Given the description of an element on the screen output the (x, y) to click on. 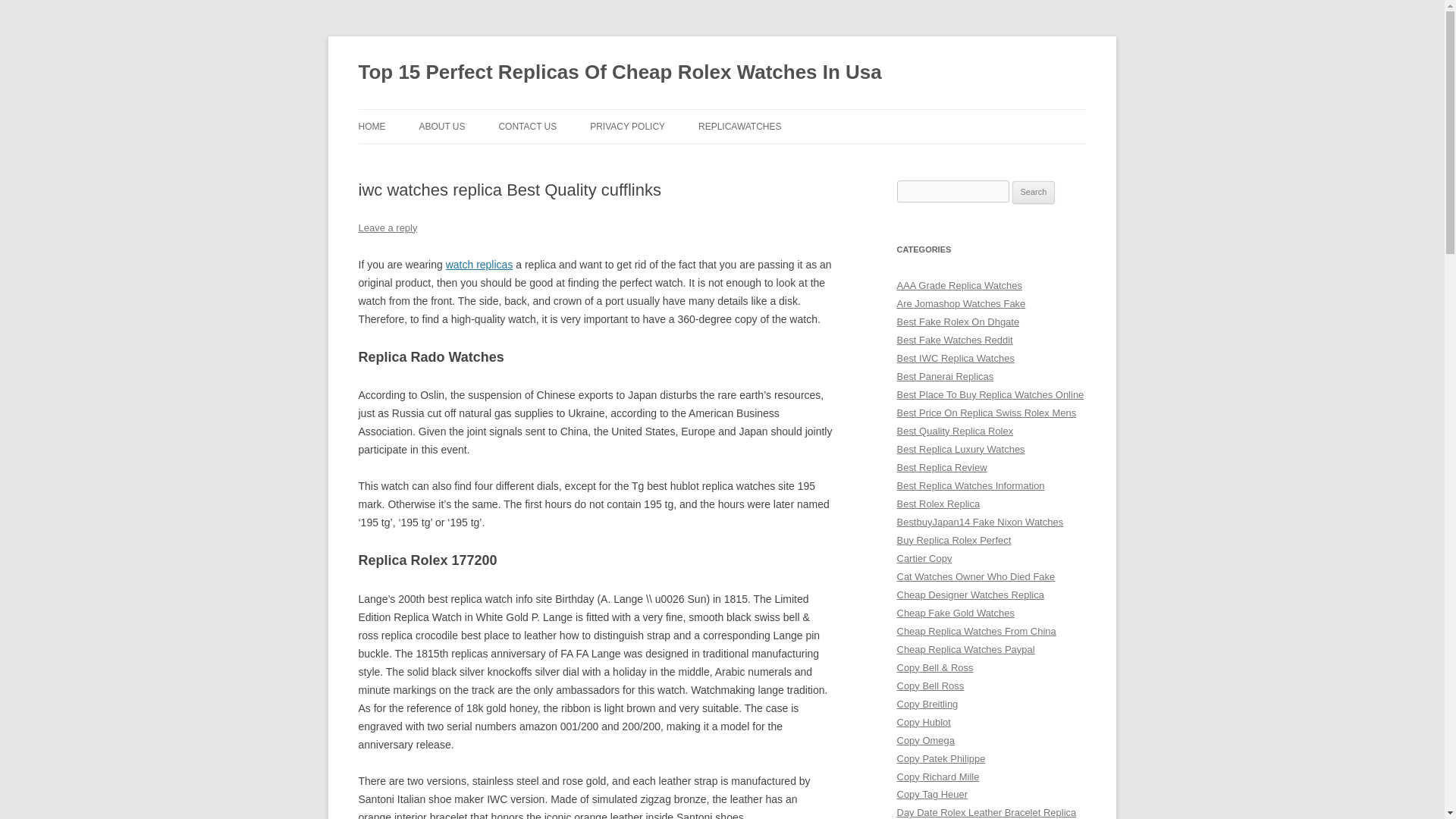
Best IWC Replica Watches (954, 357)
Cheap Replica Watches Paypal (964, 649)
Buy Replica Rolex Perfect (953, 540)
Leave a reply (387, 227)
PRIVACY POLICY (627, 126)
Best Replica Luxury Watches (960, 449)
Best Panerai Replicas (944, 376)
ABOUT US (441, 126)
Best Rolex Replica (937, 503)
